Given the description of an element on the screen output the (x, y) to click on. 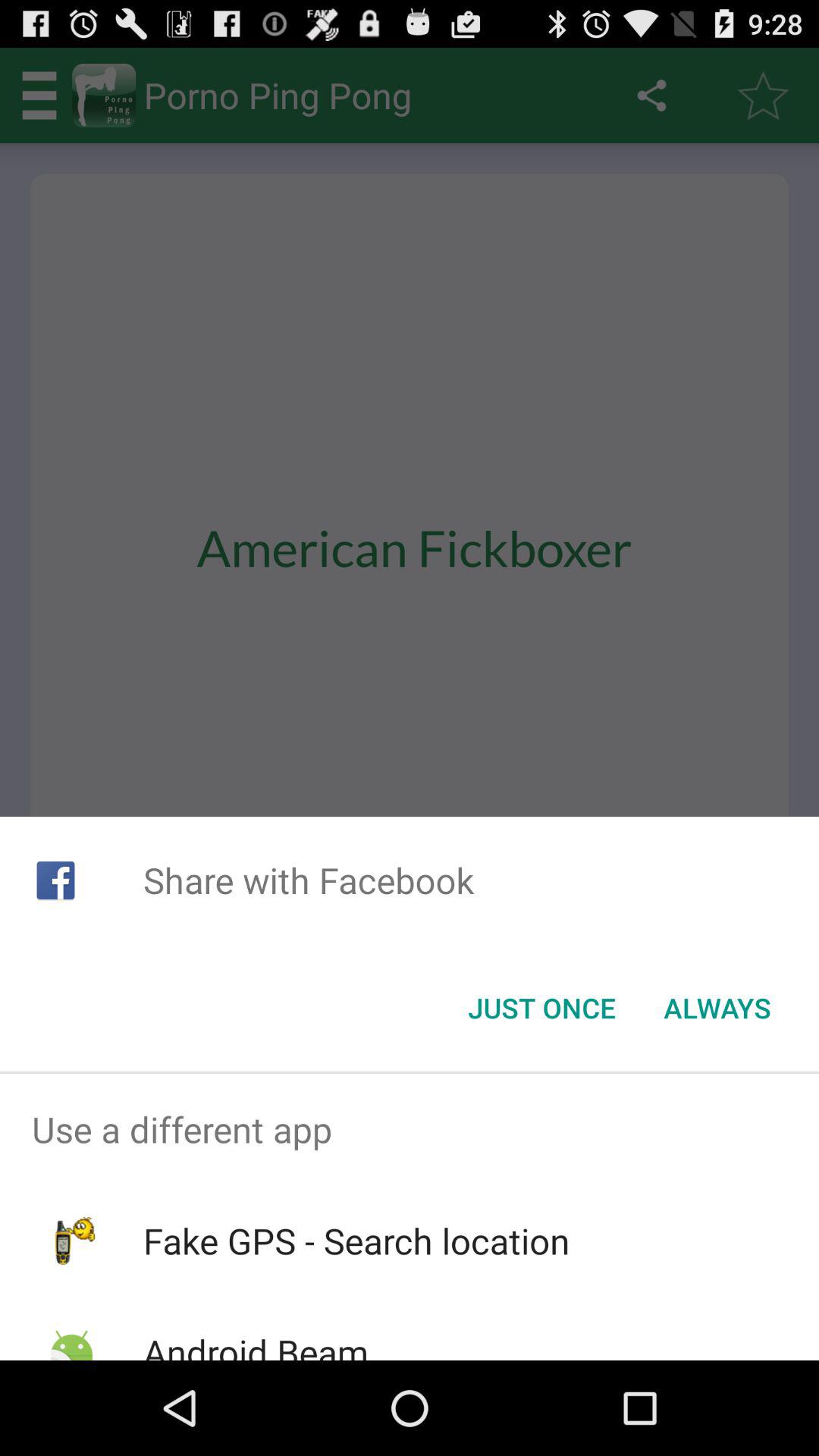
turn off fake gps search (356, 1240)
